Given the description of an element on the screen output the (x, y) to click on. 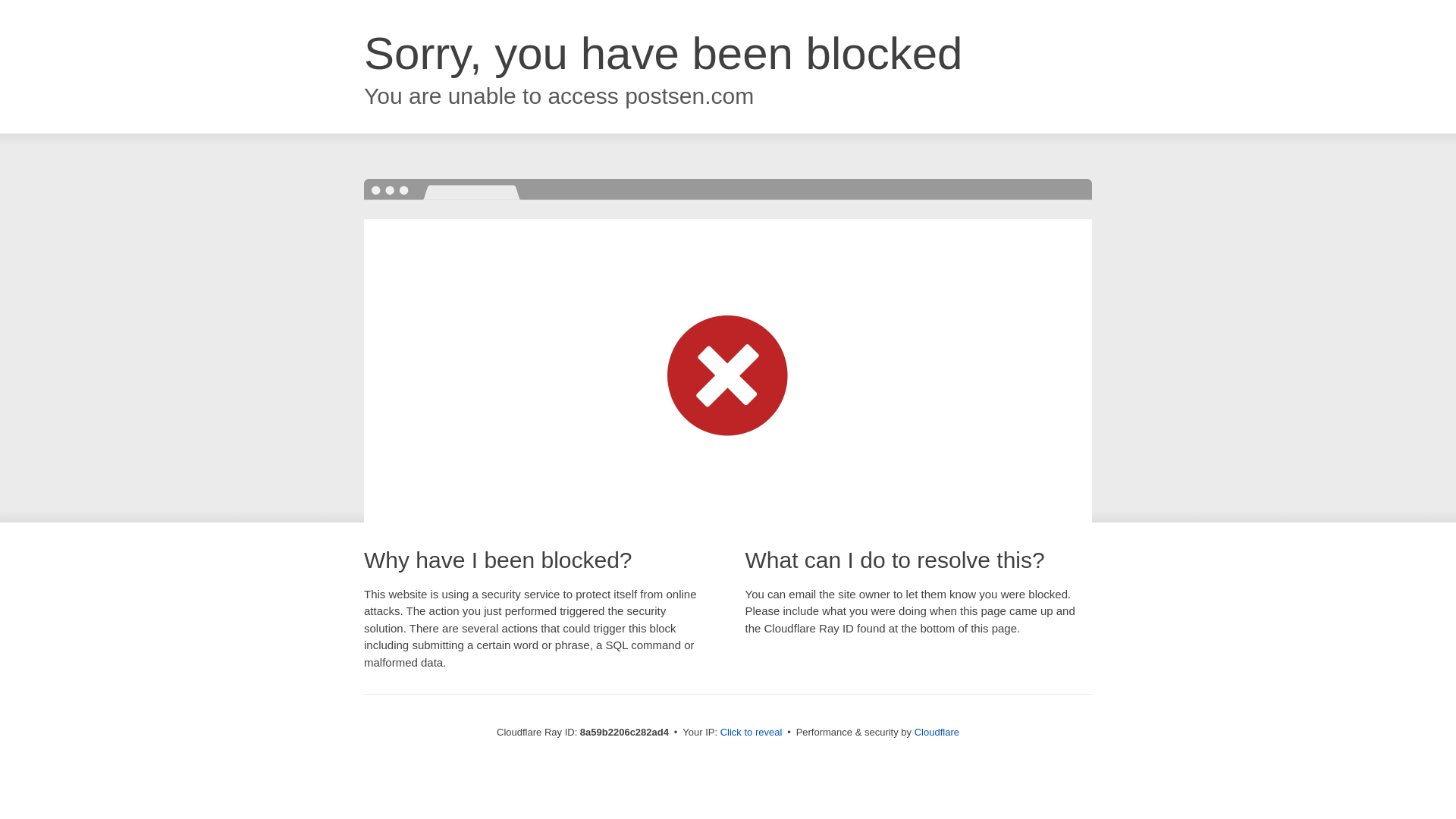
Click to reveal (751, 732)
Cloudflare (936, 731)
